Given the description of an element on the screen output the (x, y) to click on. 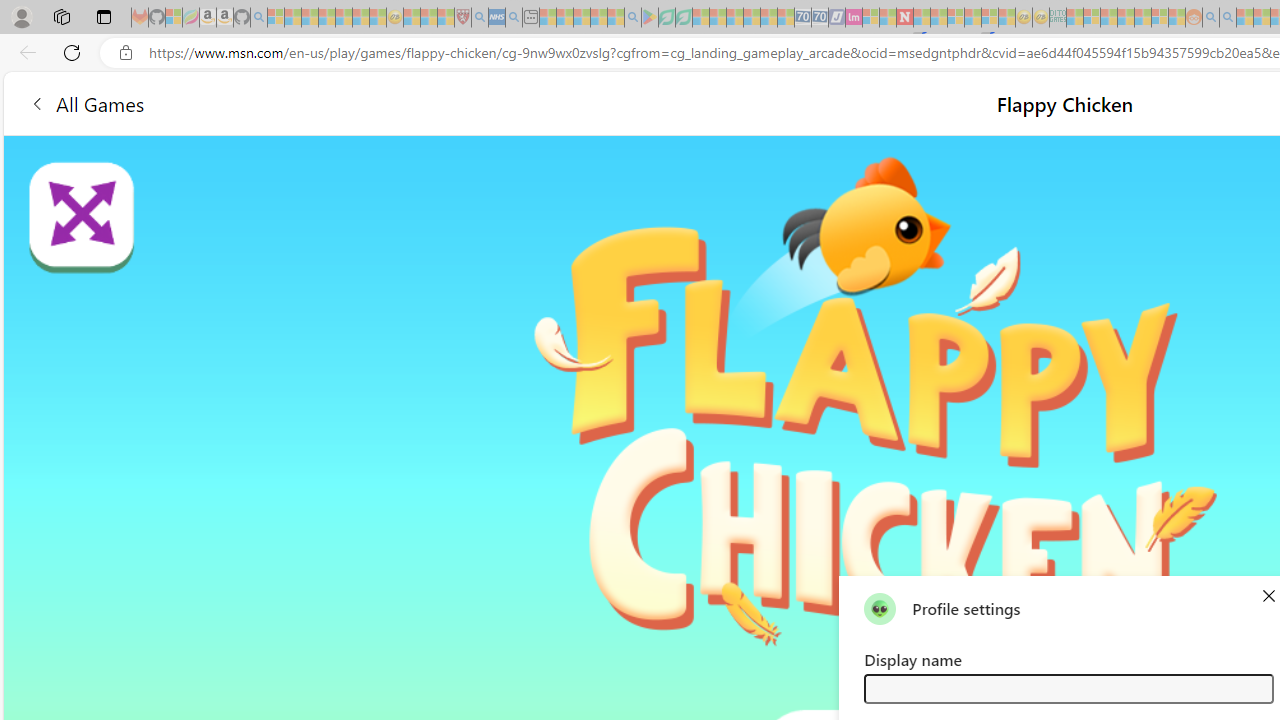
""'s avatar (880, 608)
DITOGAMES AG Imprint - Sleeping (1057, 17)
New tab - Sleeping (530, 17)
14 Common Myths Debunked By Scientific Facts - Sleeping (938, 17)
MSNBC - MSN - Sleeping (1074, 17)
Class: text-input (1068, 688)
Microsoft-Report a Concern to Bing - Sleeping (173, 17)
Cheap Car Rentals - Save70.com - Sleeping (802, 17)
Trusted Community Engagement and Contributions | Guidelines (921, 17)
